Given the description of an element on the screen output the (x, y) to click on. 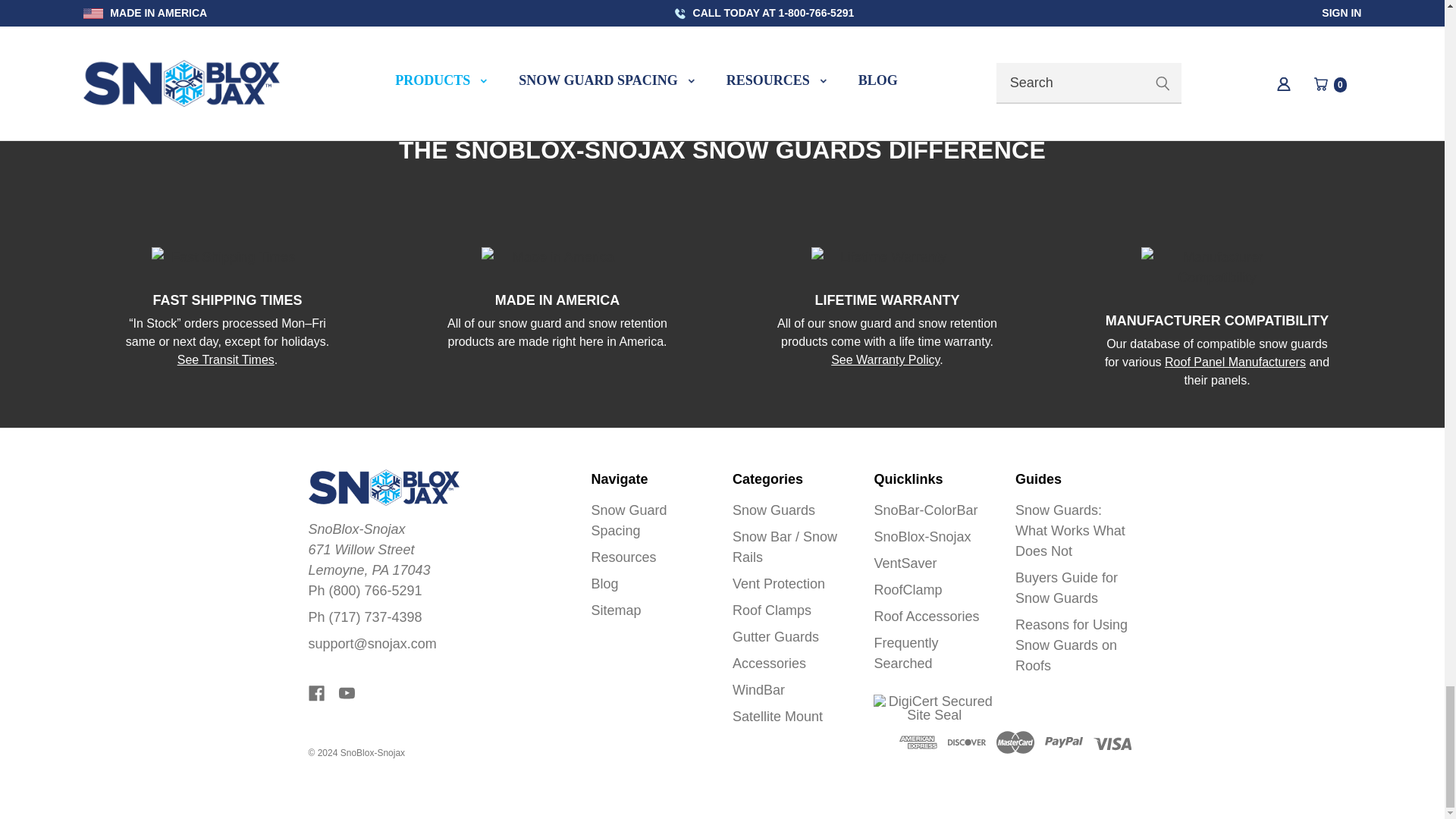
American Express American Express (918, 742)
Facebook icon Facebook icon (315, 693)
Youtube icon Youtube icon (347, 693)
